Given the description of an element on the screen output the (x, y) to click on. 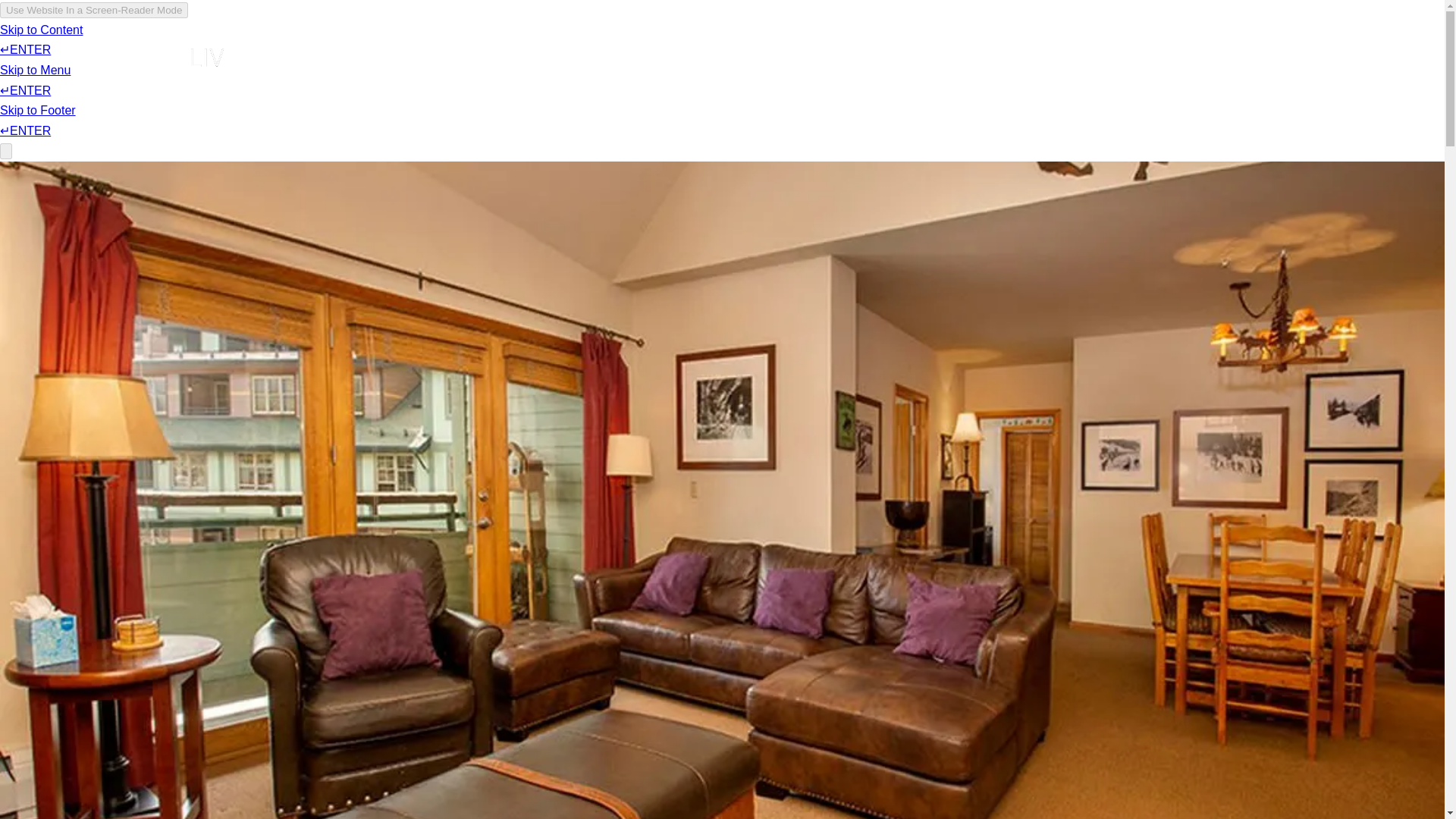
LOCAL MARKET REPORTS (745, 56)
HOME SEARCH (654, 55)
LET'S CONNECT (1150, 55)
FEATURED PROPERTIES (521, 55)
TESTIMONIALS (1039, 55)
ABOUT BRENDA (385, 55)
SERVICES (822, 55)
NEIGHBORHOODS (923, 55)
